Given the description of an element on the screen output the (x, y) to click on. 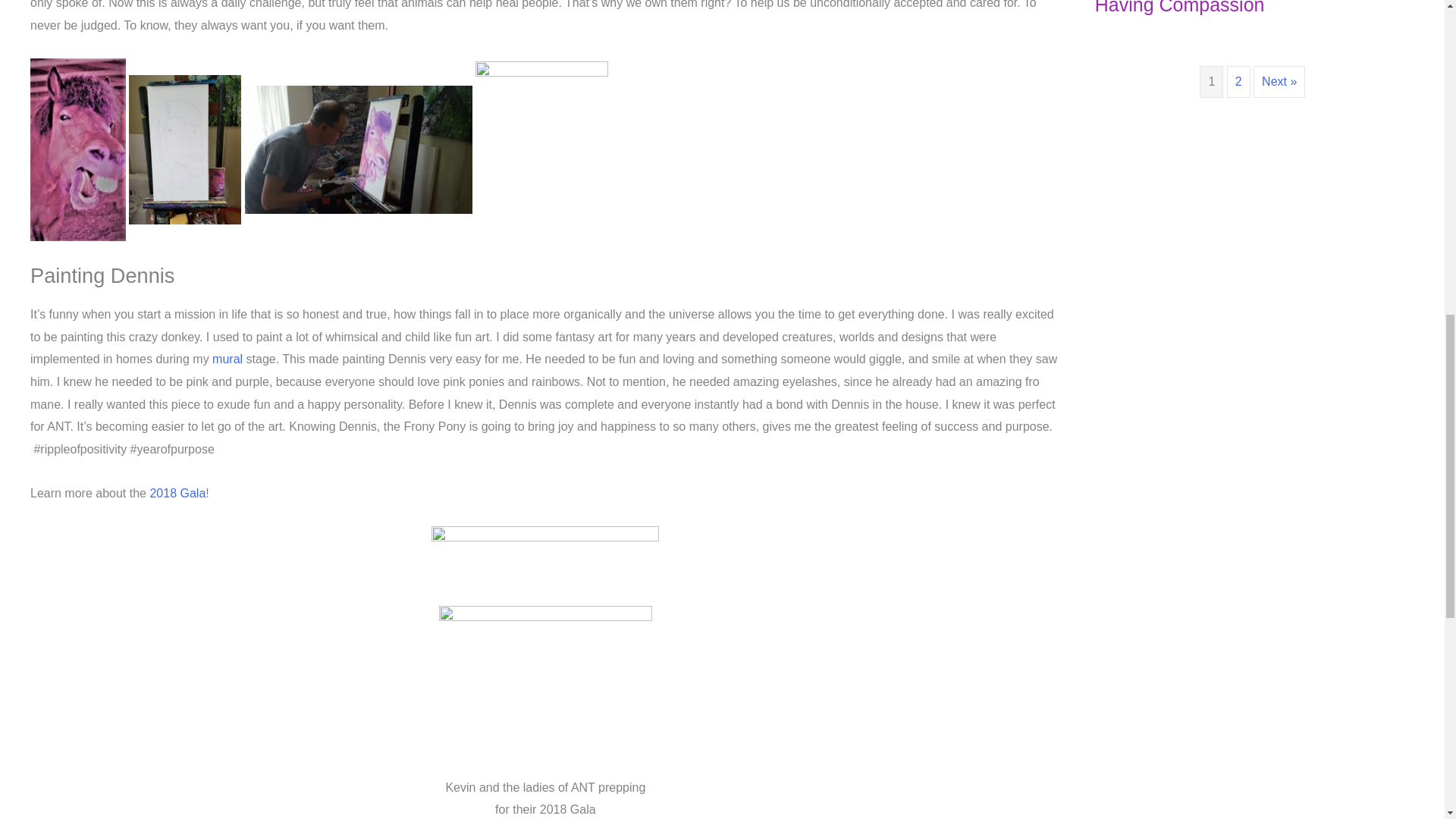
Having Compassion (1179, 7)
Having Compassion (1179, 7)
mural (227, 358)
2018 Gala (177, 492)
